Given the description of an element on the screen output the (x, y) to click on. 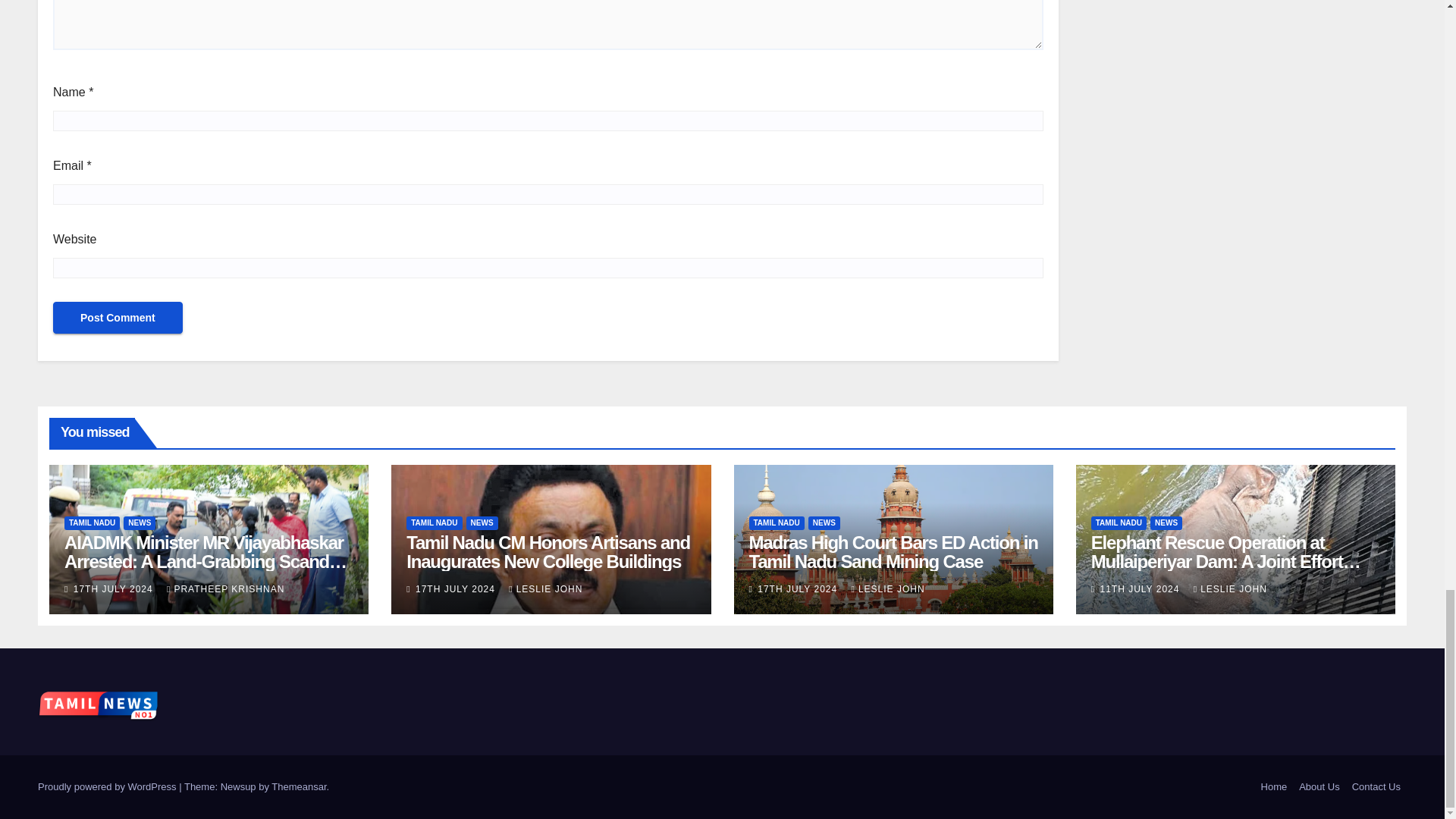
Post Comment (117, 317)
